Given the description of an element on the screen output the (x, y) to click on. 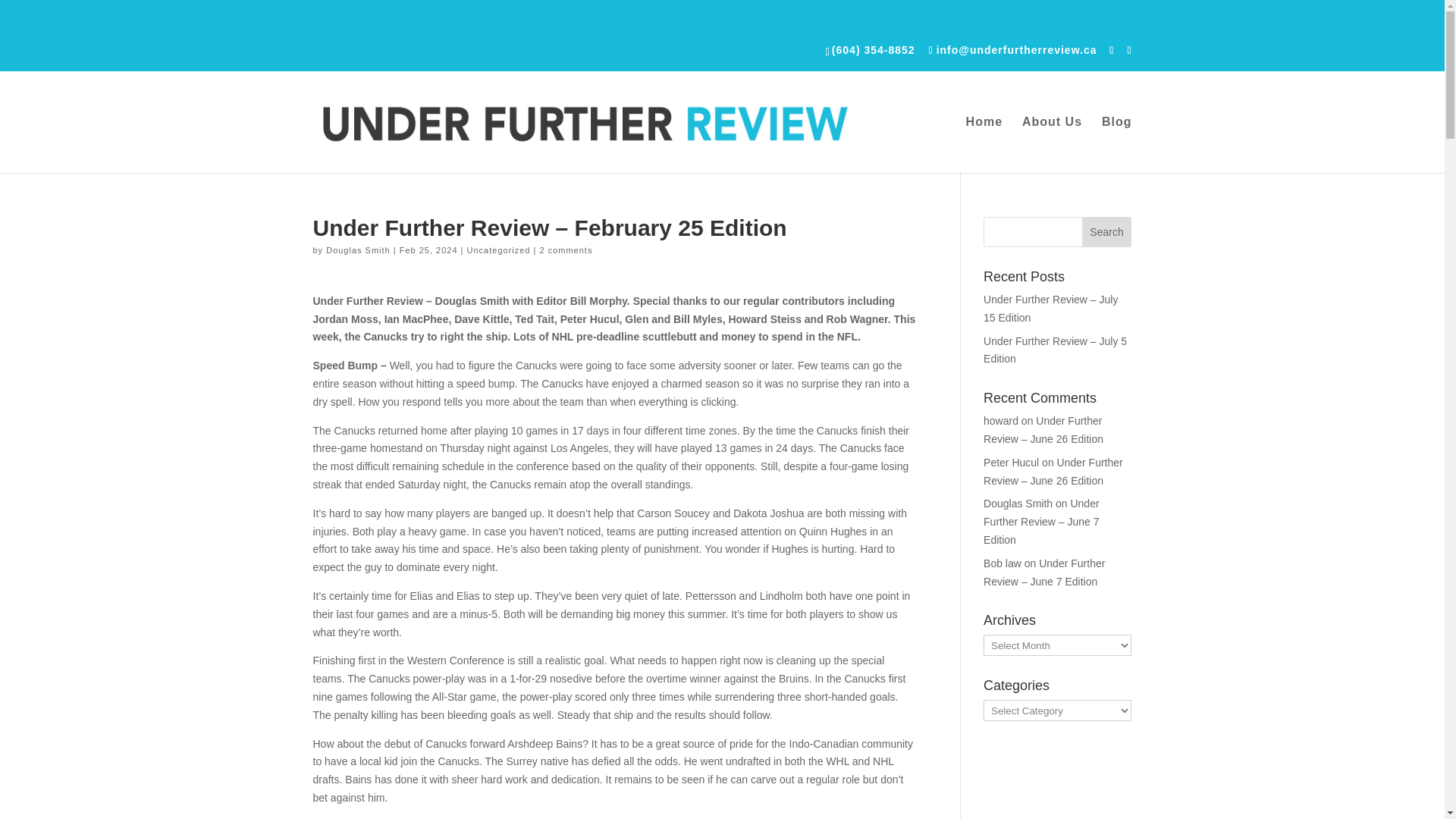
Posts by Douglas Smith (358, 249)
Search (1106, 232)
2 comments (565, 249)
Douglas Smith (358, 249)
Douglas Smith (1018, 503)
Search (1106, 232)
Peter Hucul (1011, 462)
Uncategorized (499, 249)
About Us (1051, 144)
